Given the description of an element on the screen output the (x, y) to click on. 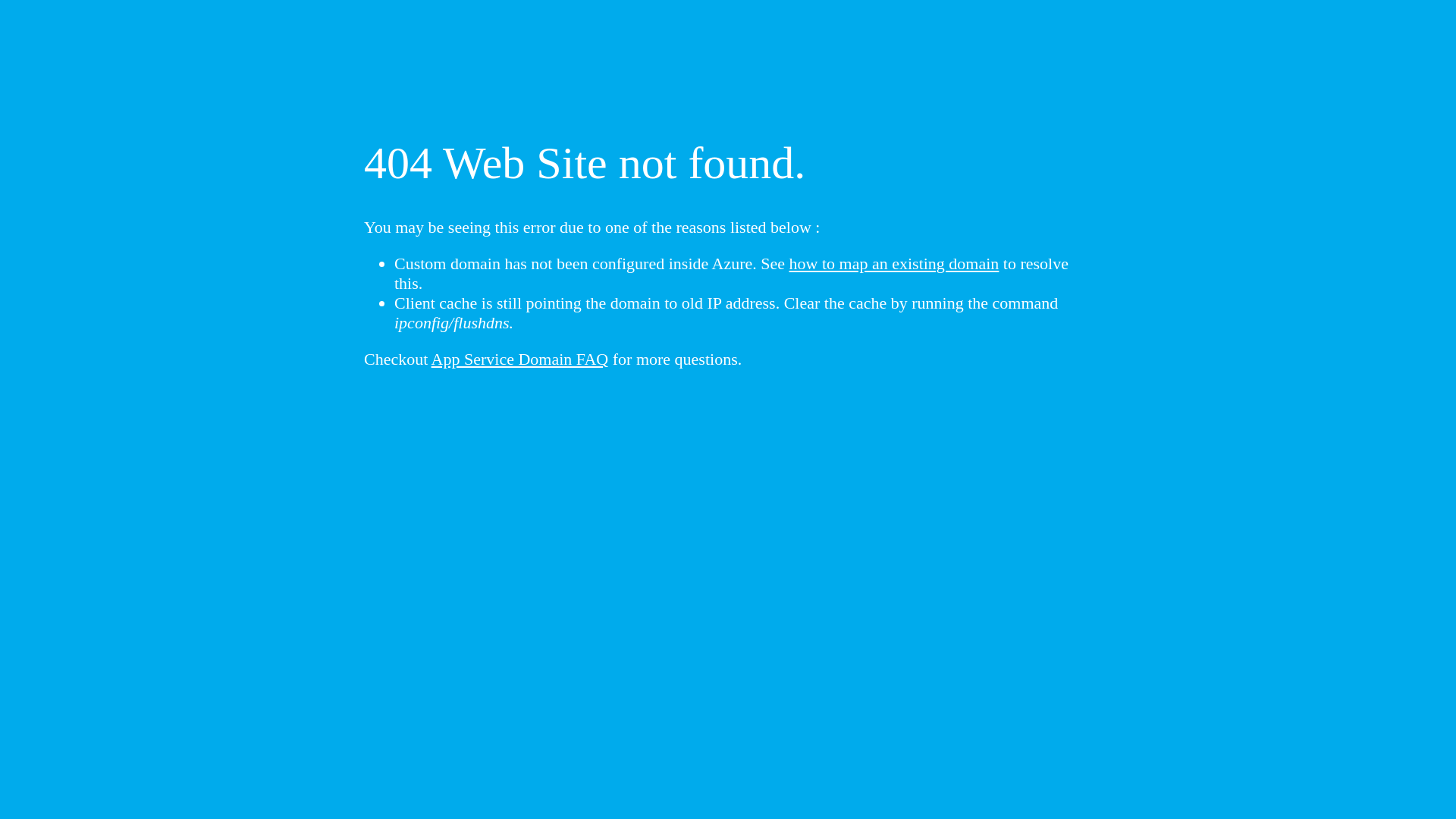
how to map an existing domain Element type: text (894, 263)
App Service Domain FAQ Element type: text (519, 358)
